Given the description of an element on the screen output the (x, y) to click on. 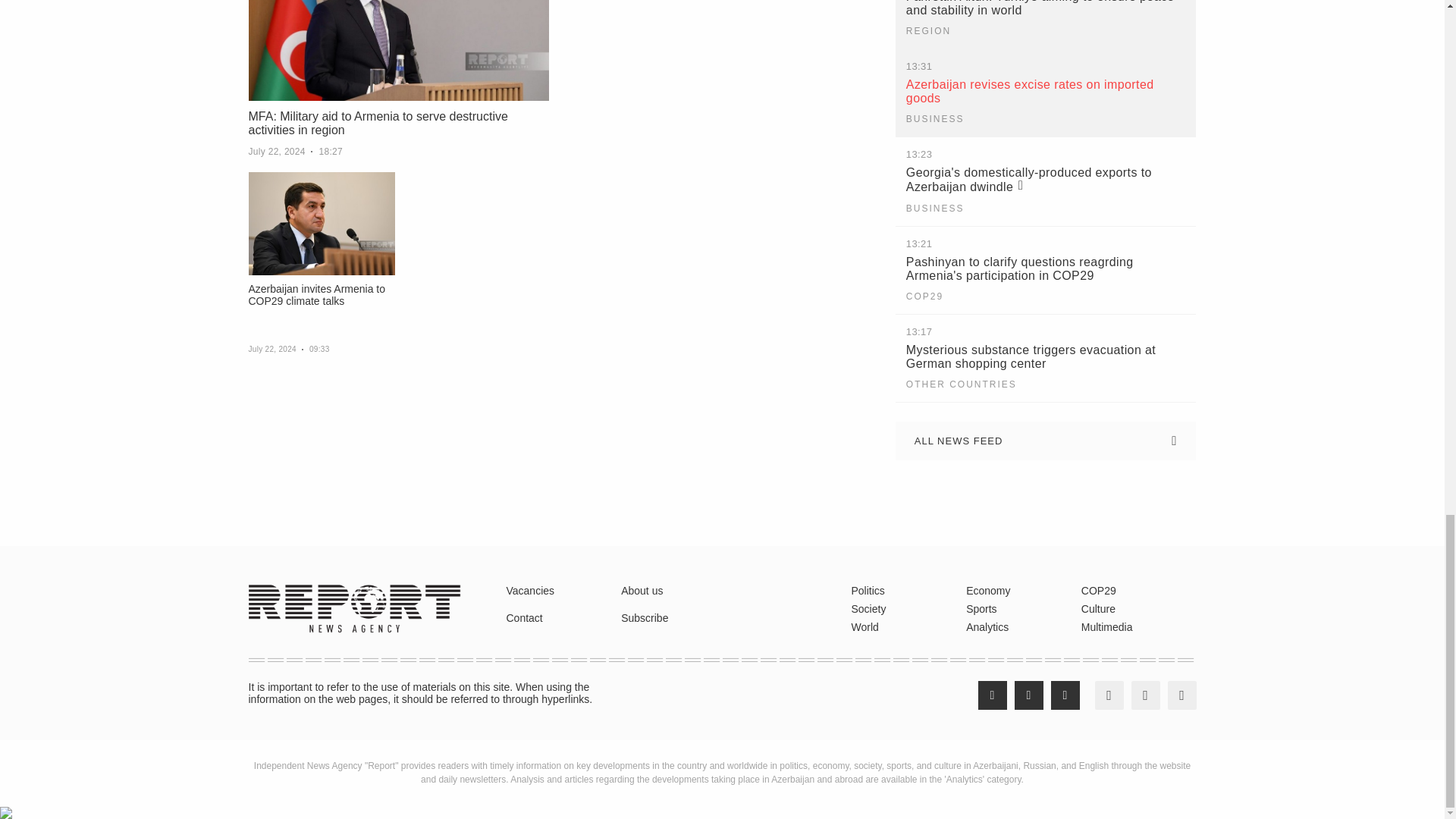
Azerbaijan invites Armenia to COP29 climate talks (321, 223)
undefined (33, 511)
